Given the description of an element on the screen output the (x, y) to click on. 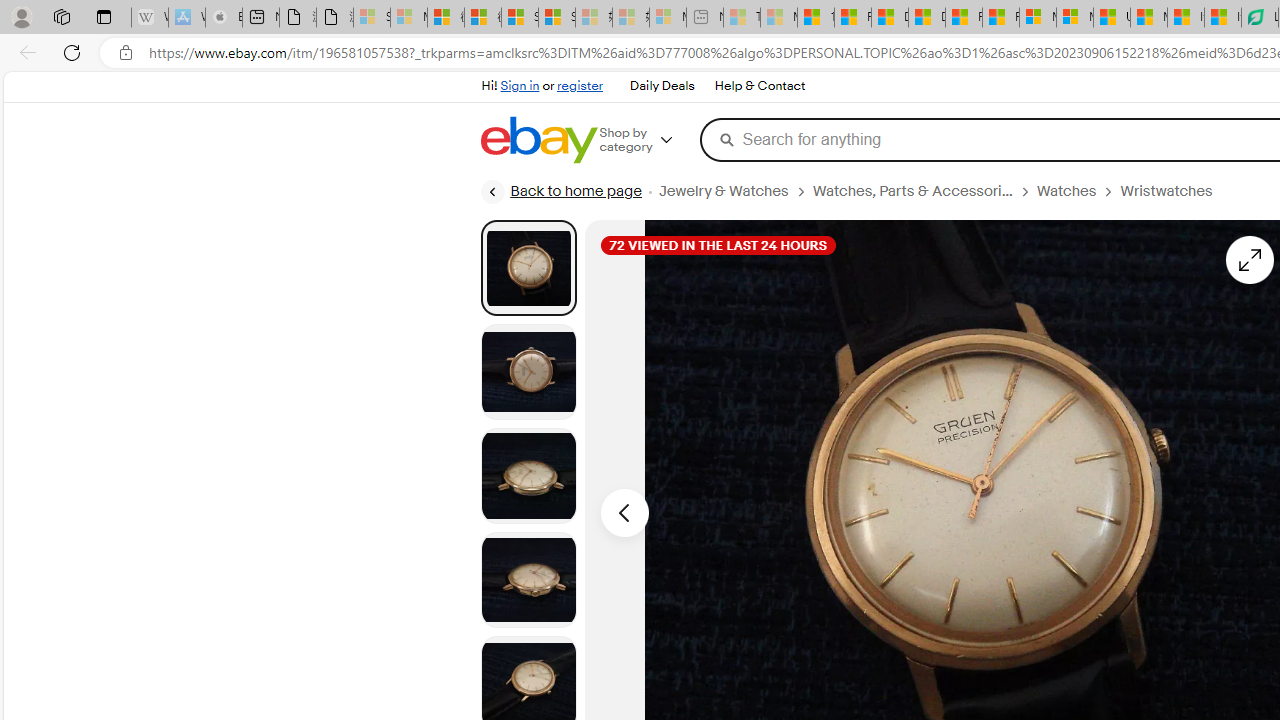
Food and Drink - MSN (852, 17)
Previous image - Item images thumbnails (624, 512)
Picture 2 of 8 (528, 371)
Picture 3 of 8 (528, 475)
eBay Home (538, 139)
Buy iPad - Apple - Sleeping (223, 17)
Picture 4 of 8 (528, 579)
Foo BAR | Trusted Community Engagement and Contributions (1000, 17)
